Given the description of an element on the screen output the (x, y) to click on. 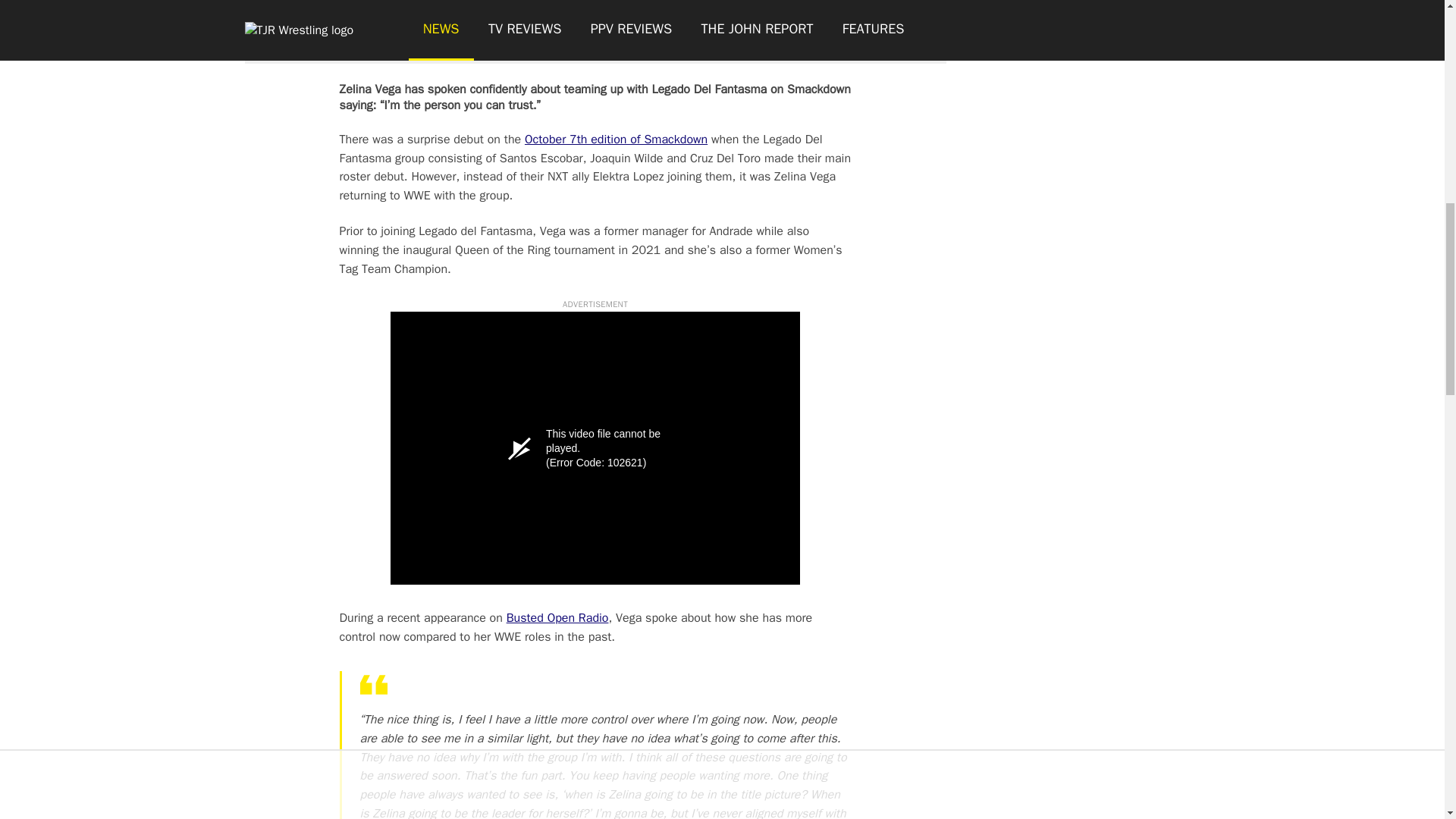
October 7th edition of Smackdown (615, 139)
Busted Open Radio (557, 617)
